Given the description of an element on the screen output the (x, y) to click on. 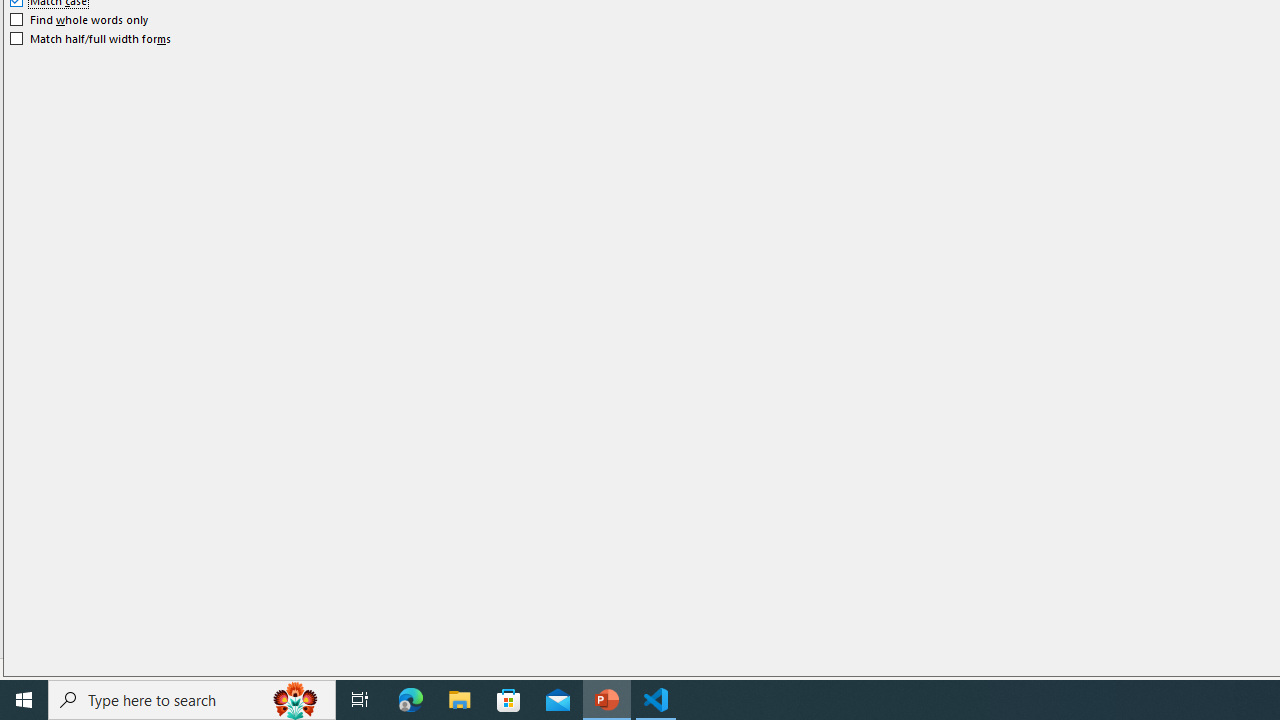
Find whole words only (79, 20)
Match half/full width forms (91, 38)
